Given the description of an element on the screen output the (x, y) to click on. 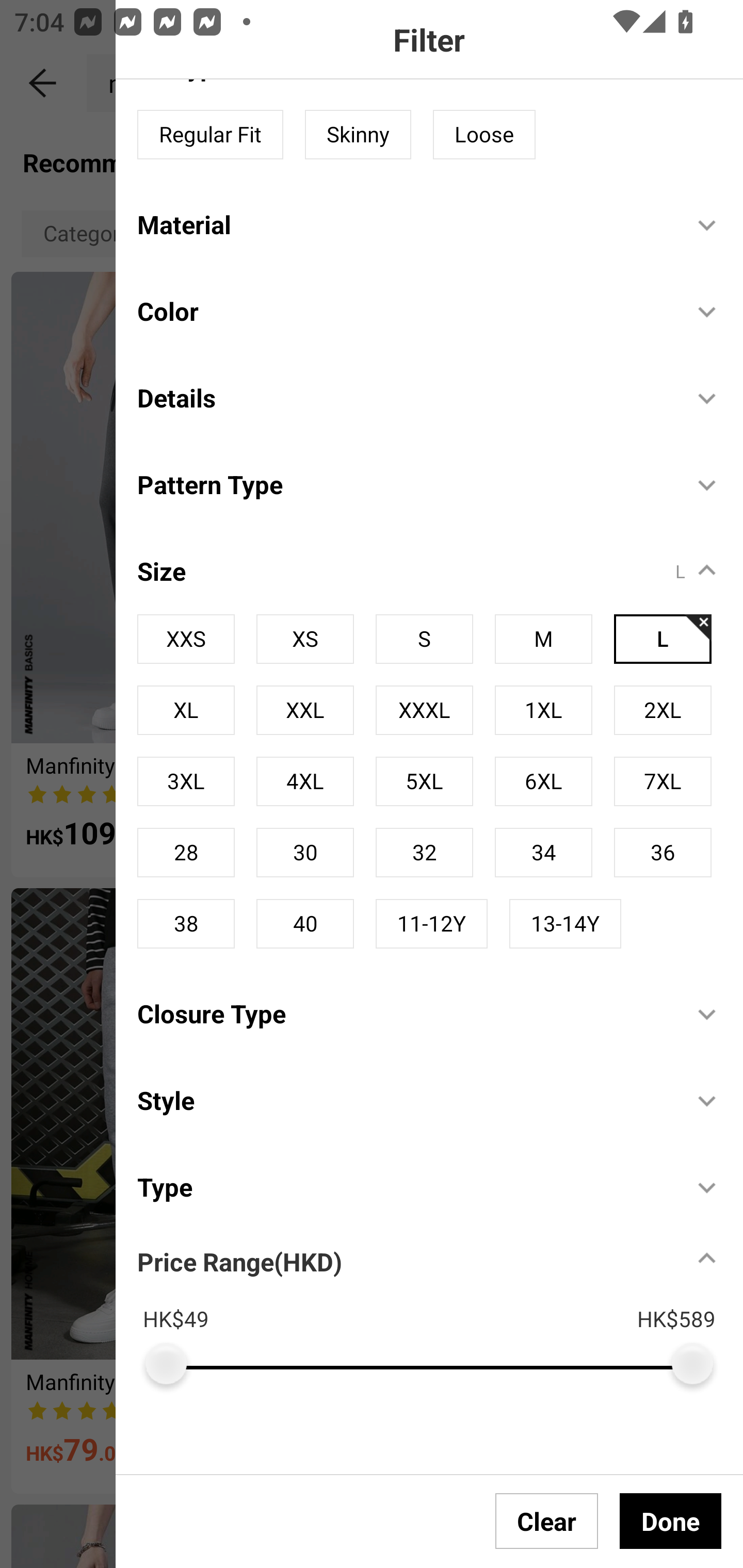
Regular Fit (210, 134)
Skinny (357, 134)
Loose (484, 134)
Material (403, 224)
Color (403, 311)
Details (403, 397)
Pattern Type (403, 484)
Size L (440, 560)
XXS (185, 638)
XS (304, 638)
S (424, 638)
M (543, 638)
L (662, 638)
XL (185, 710)
XXL (304, 710)
XXXL (424, 710)
1XL (543, 710)
2XL (662, 710)
3XL (185, 781)
4XL (304, 781)
5XL (424, 781)
6XL (543, 781)
7XL (662, 781)
28 (185, 852)
30 (304, 852)
32 (424, 852)
34 (543, 852)
36 (662, 852)
38 (185, 923)
40 (304, 923)
11-12Y (431, 923)
13-14Y (564, 923)
Closure Type (403, 1013)
Style (403, 1099)
Type (403, 1186)
Price Range(HKD) HK$49 HK$589 (440, 1306)
Price Range(HKD) (239, 1260)
Clear (546, 1520)
Done (670, 1520)
